Given the description of an element on the screen output the (x, y) to click on. 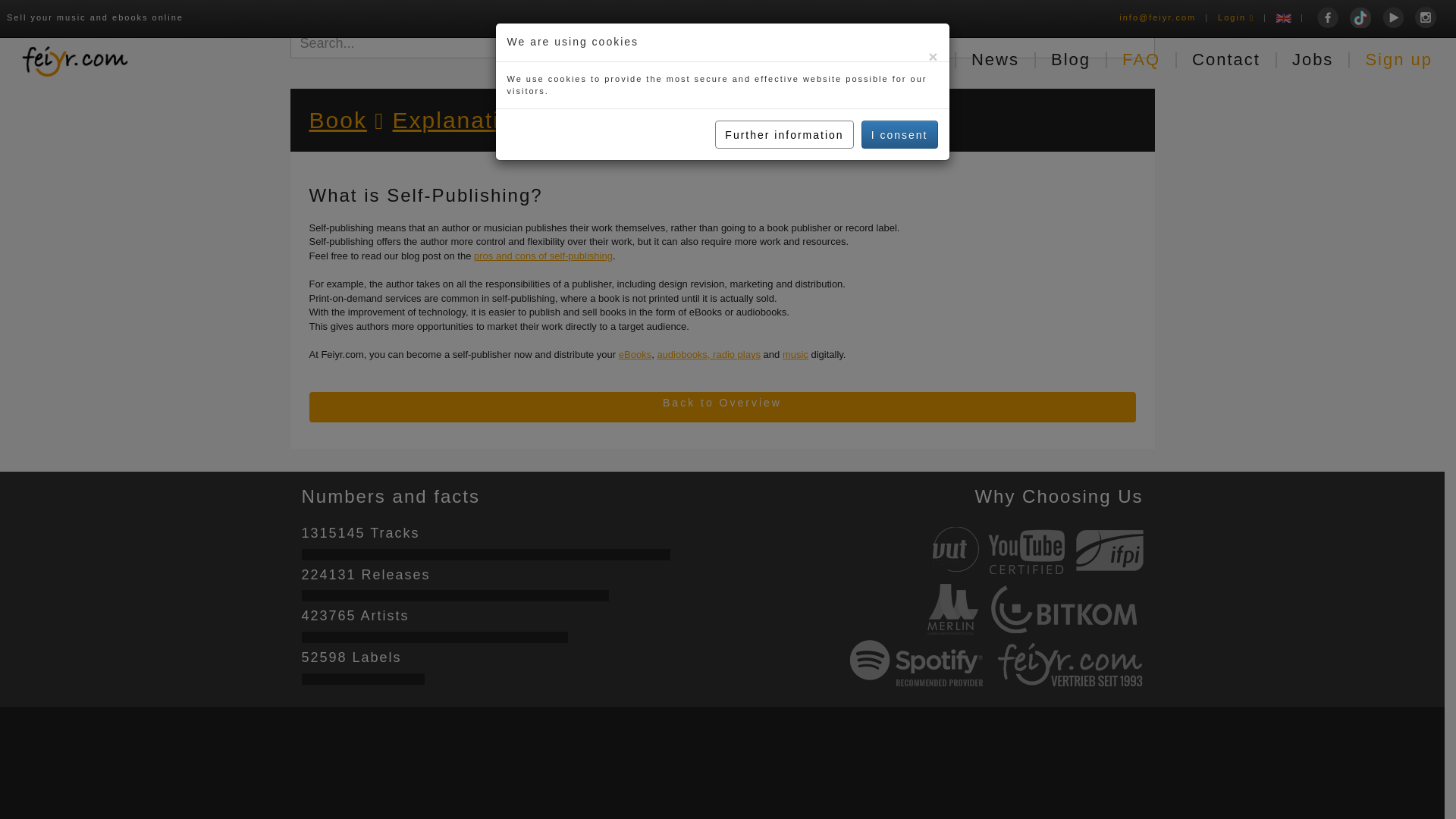
Book (337, 119)
I consent (899, 41)
Explanations (467, 119)
pros and cons of self-publishing (543, 255)
Further information (783, 41)
audiobooks, radio plays (708, 354)
Back to Overview (721, 407)
music (795, 354)
eBooks (634, 354)
